Given the description of an element on the screen output the (x, y) to click on. 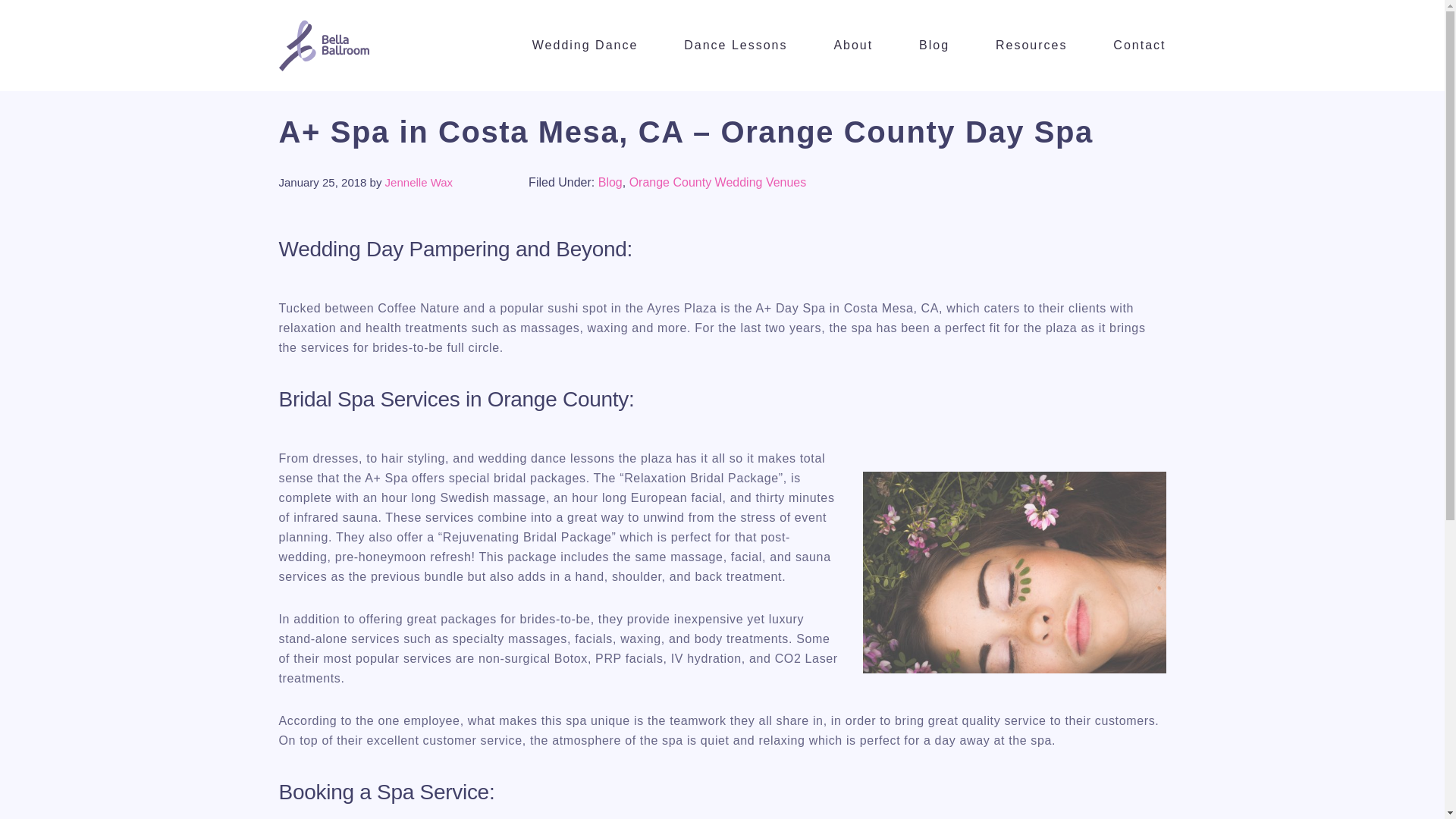
Wedding Dance (585, 44)
Resources (1031, 44)
Orange County Wedding Venues (717, 182)
Jennelle Wax (418, 182)
Bella Home (405, 44)
Dance Lessons (735, 44)
Contact (1139, 44)
Blog (610, 182)
Posts by Jennelle Wax (418, 182)
